Given the description of an element on the screen output the (x, y) to click on. 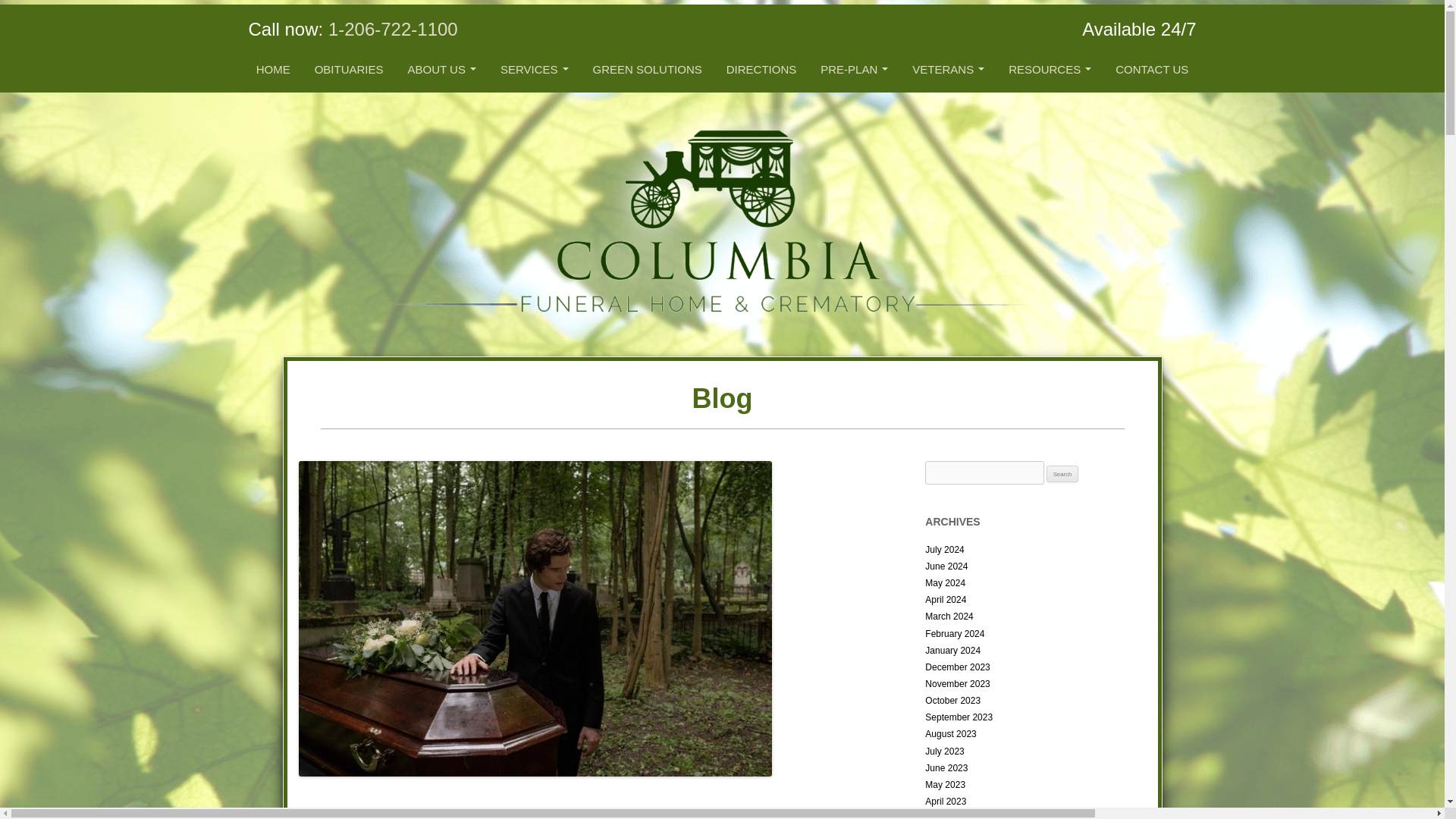
GREEN SOLUTIONS (647, 69)
SERVICES... (533, 69)
CONTACT US (1151, 69)
Search (1061, 474)
PRE-PLAN... (853, 69)
DIRECTIONS (761, 69)
VETERANS... (947, 69)
RESOURCES... (1049, 69)
1-206-722-1100 (393, 28)
OBITUARIES (349, 69)
Is Embalming Necessary With The Funeral Home? (515, 812)
ABOUT US... (441, 69)
HOME (273, 69)
